Given the description of an element on the screen output the (x, y) to click on. 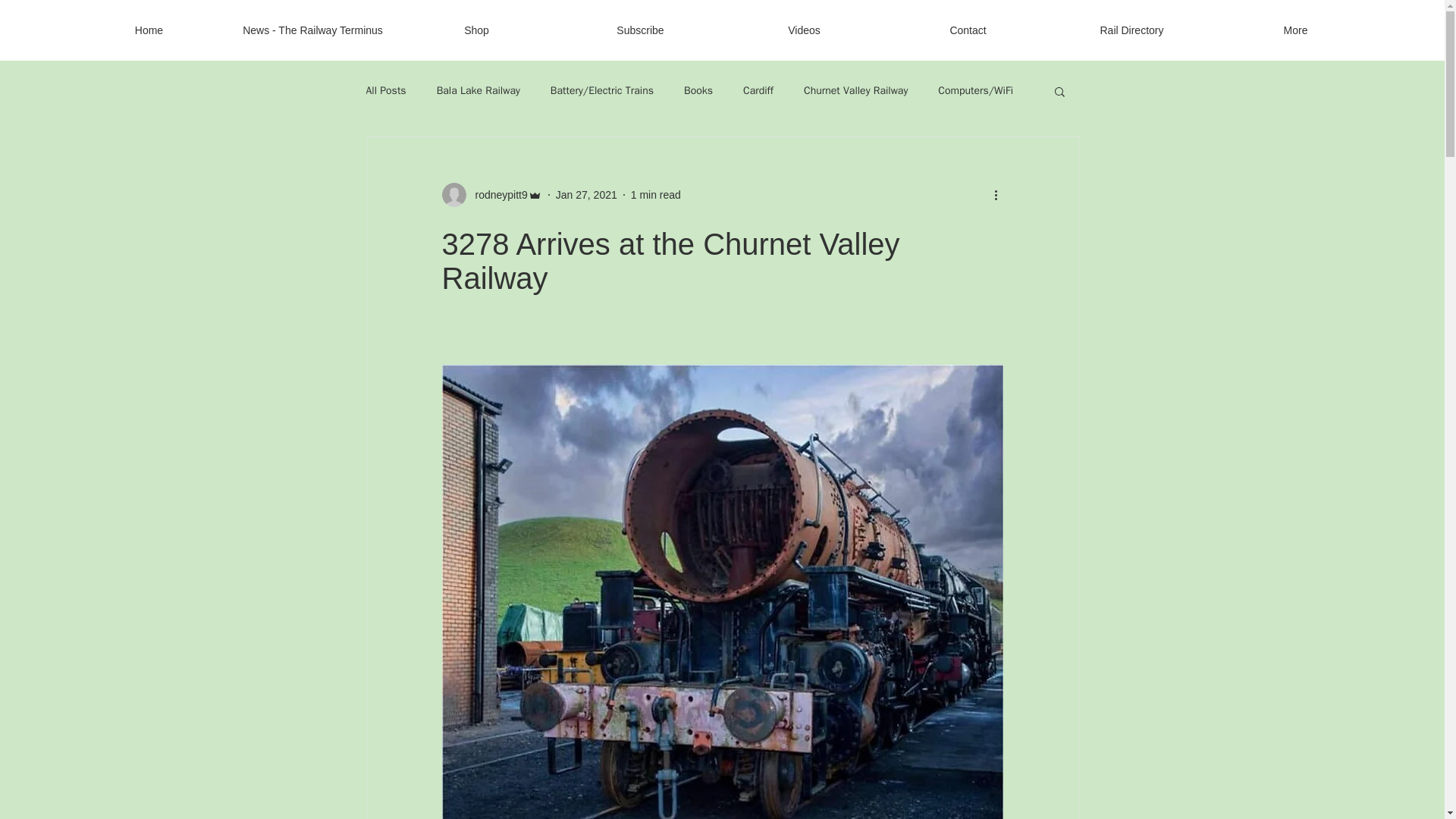
All Posts (385, 90)
Shop (475, 30)
News - The Railway Terminus (312, 30)
Videos (803, 30)
Bala Lake Railway (477, 90)
Rail Directory (1130, 30)
Churnet Valley Railway (855, 90)
Contact (967, 30)
1 min read (655, 193)
Subscribe (639, 30)
Home (148, 30)
rodneypitt9 (496, 194)
Cardiff (757, 90)
Jan 27, 2021 (586, 193)
Books (698, 90)
